Given the description of an element on the screen output the (x, y) to click on. 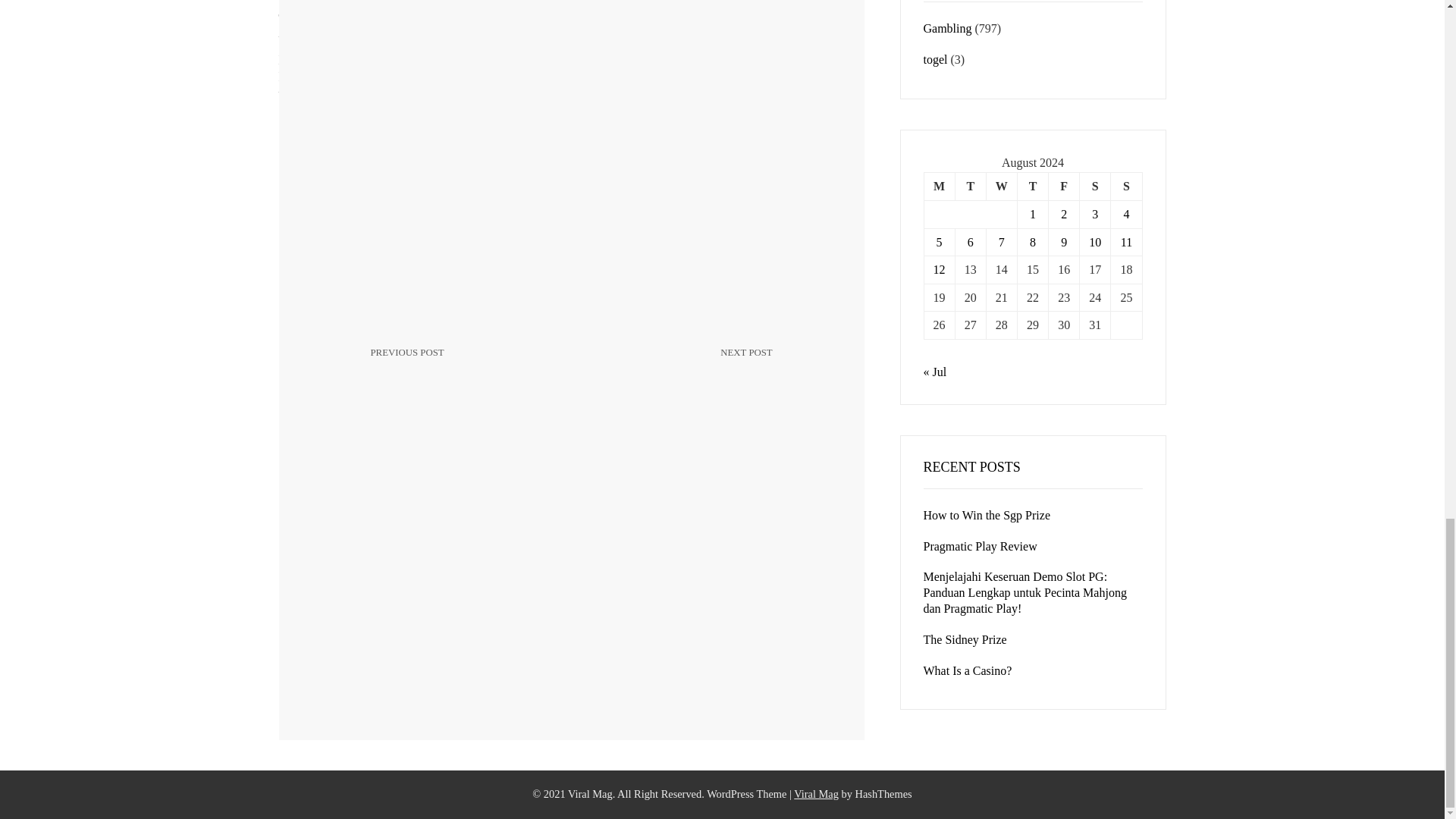
Sunday (462, 364)
Friday (1125, 186)
Saturday (1064, 186)
Monday (1095, 186)
Download Viral News (939, 186)
Thursday (815, 793)
Tuesday (1032, 186)
Wednesday (680, 364)
